Given the description of an element on the screen output the (x, y) to click on. 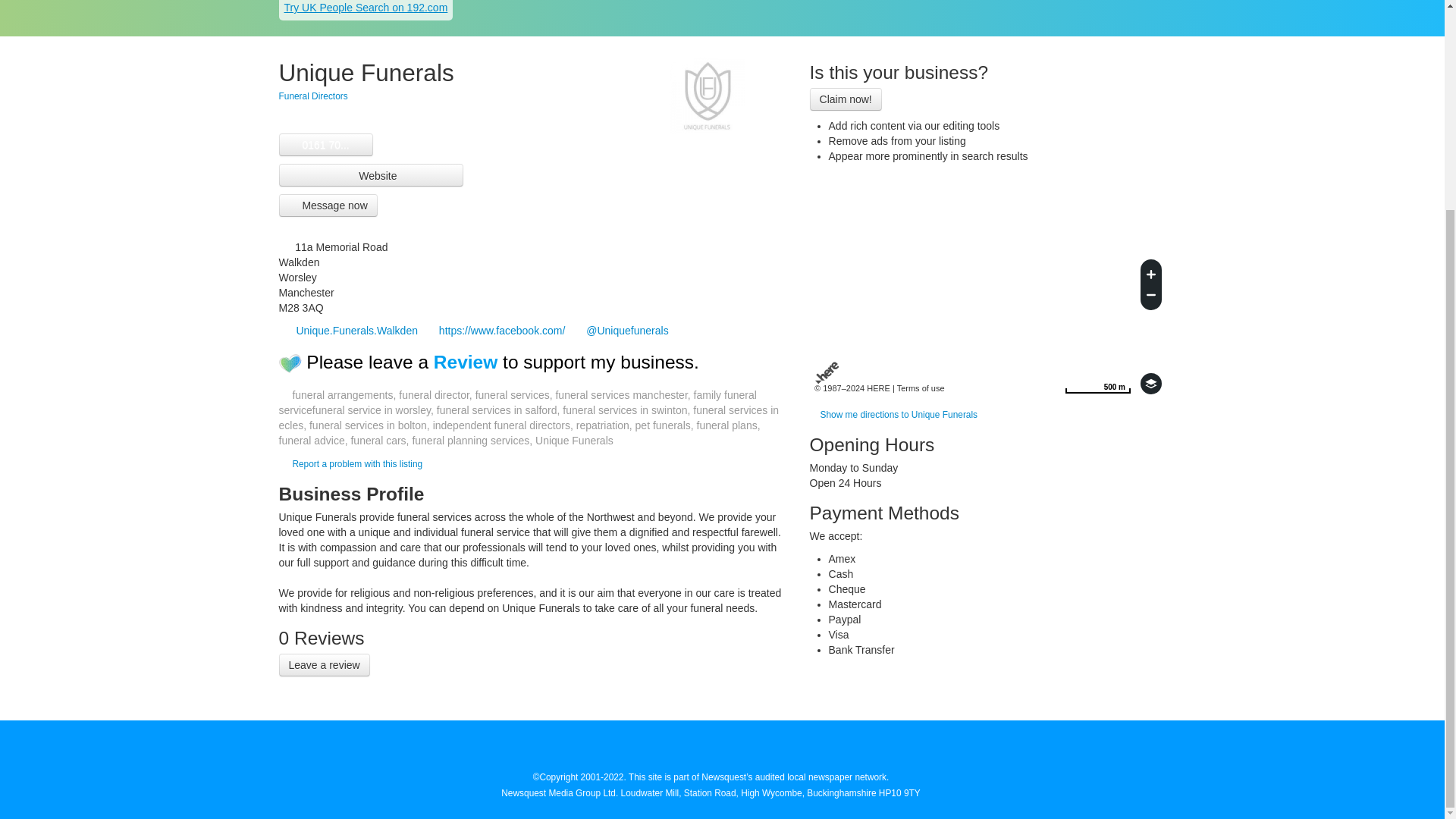
click to show number (325, 144)
Claim now! (845, 98)
Change to miles (1097, 383)
Report a problem with this listing (357, 462)
Website (371, 174)
Leave a review (324, 664)
Terms of use (920, 388)
Choose view (1150, 383)
Try UK People Search on 192.com (364, 7)
Please leave a Review to support my business. (501, 362)
Unique.Funerals.Walkden (349, 330)
0161 70... (1097, 383)
show me more (325, 144)
Funeral Directors (313, 95)
